Given the description of an element on the screen output the (x, y) to click on. 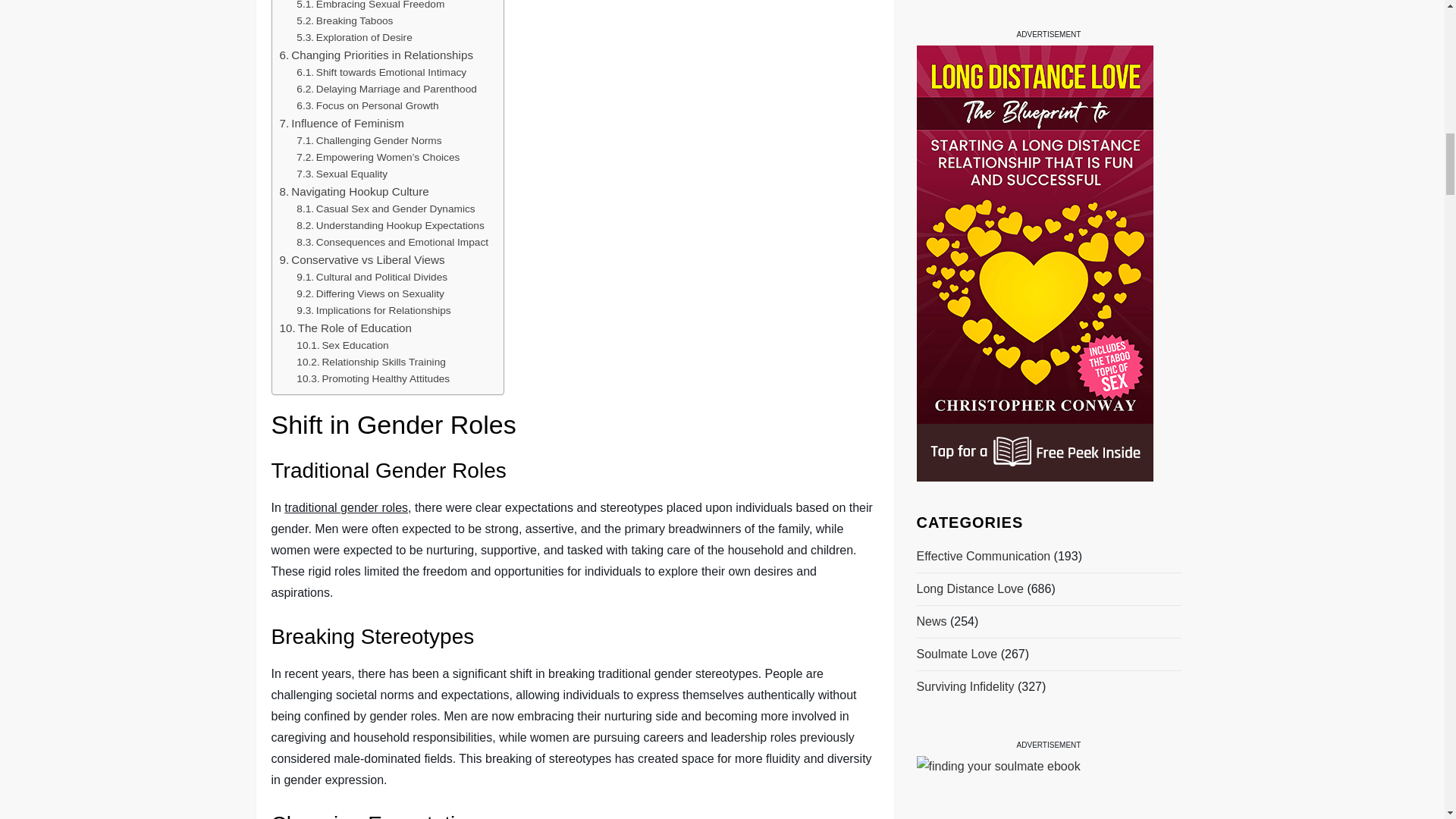
Embracing Sexual Freedom (370, 6)
Exploration of Desire (354, 37)
Breaking Taboos (345, 21)
